Given the description of an element on the screen output the (x, y) to click on. 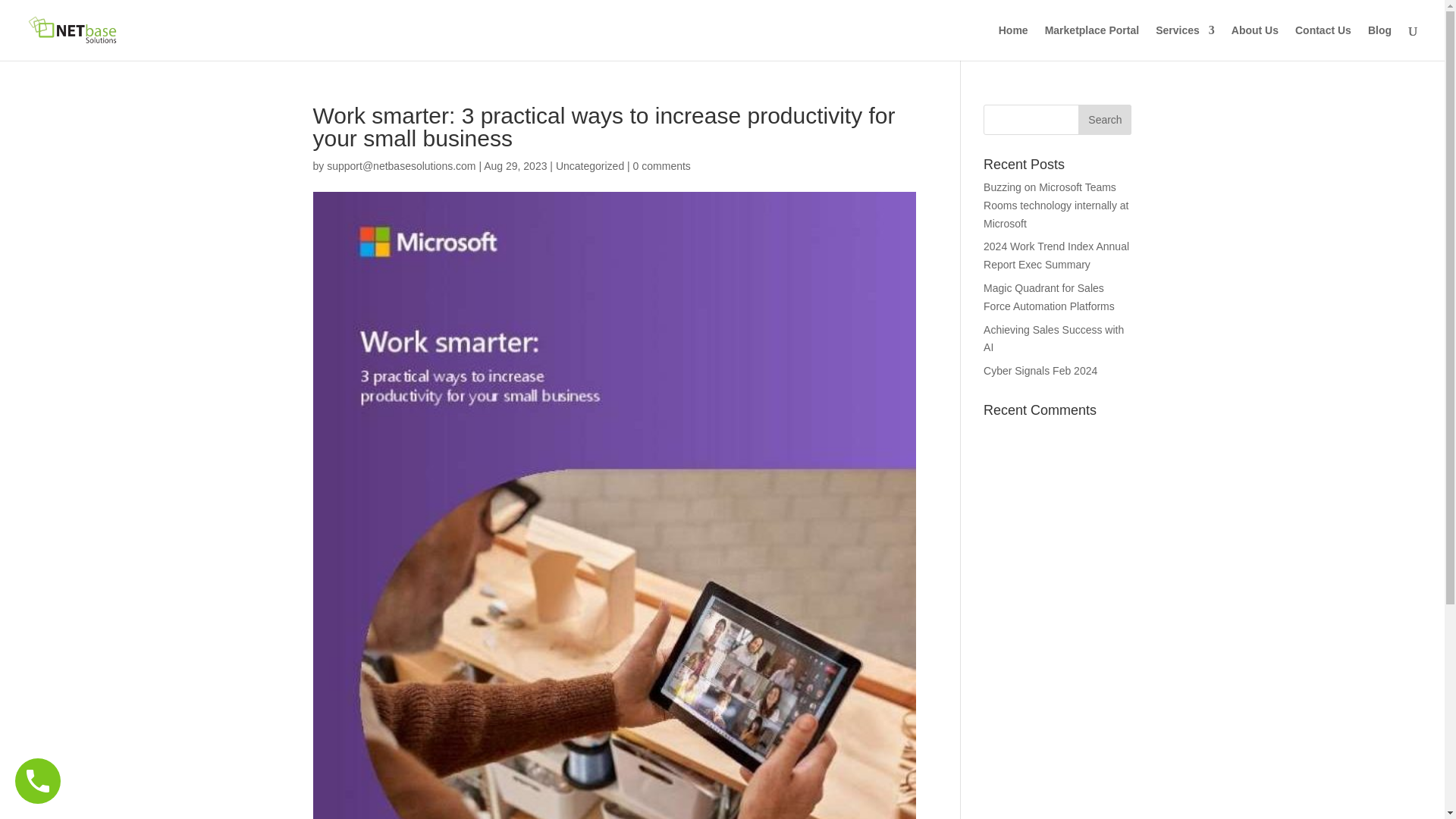
Search (1104, 119)
0 comments (661, 165)
Magic Quadrant for Sales Force Automation Platforms (1049, 296)
Services (1185, 42)
Marketplace Portal (1092, 42)
Uncategorized (590, 165)
About Us (1254, 42)
Cyber Signals Feb 2024 (1040, 370)
Contact Us (1323, 42)
